Given the description of an element on the screen output the (x, y) to click on. 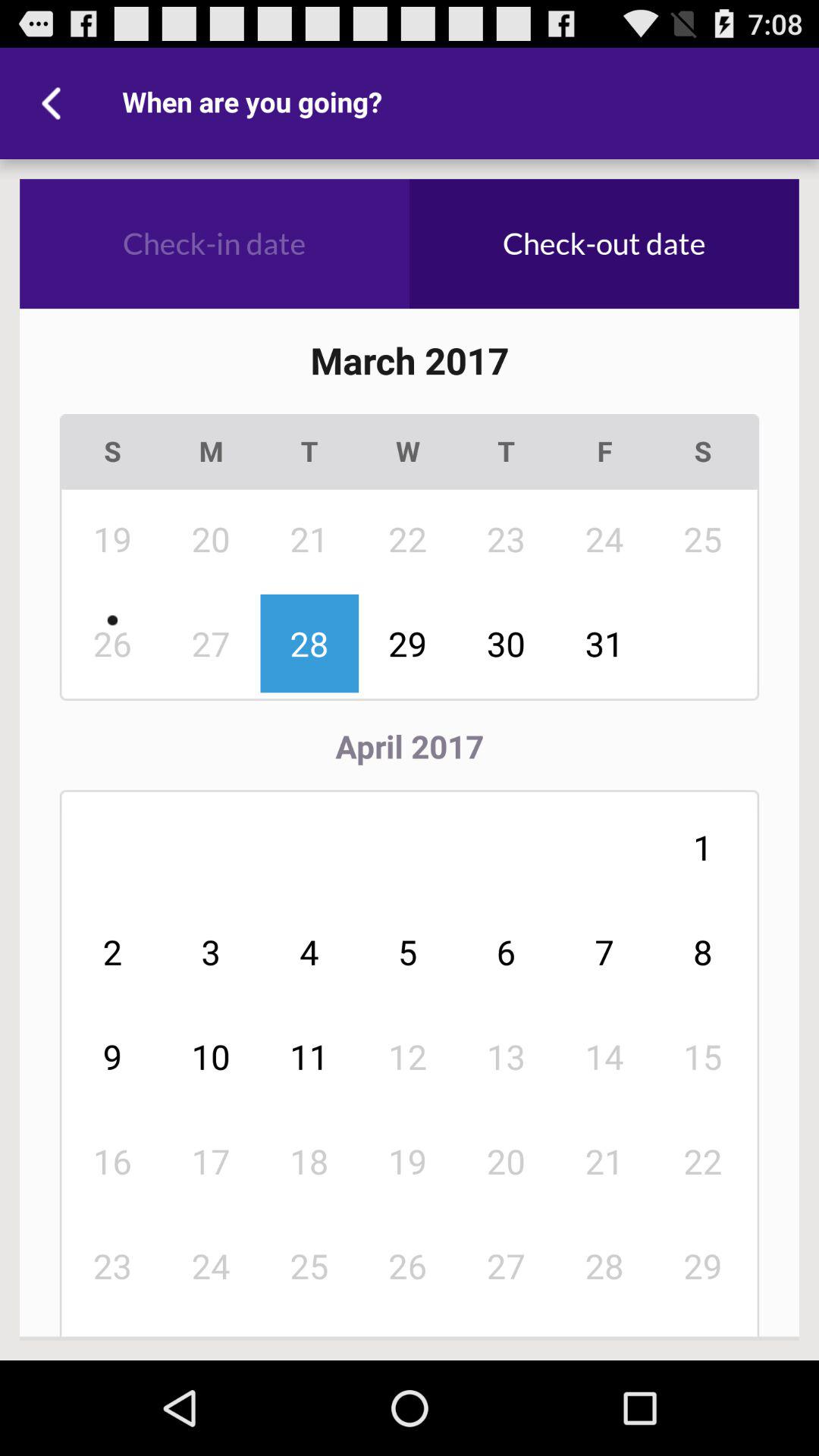
turn on the item next to 6 (407, 1056)
